Given the description of an element on the screen output the (x, y) to click on. 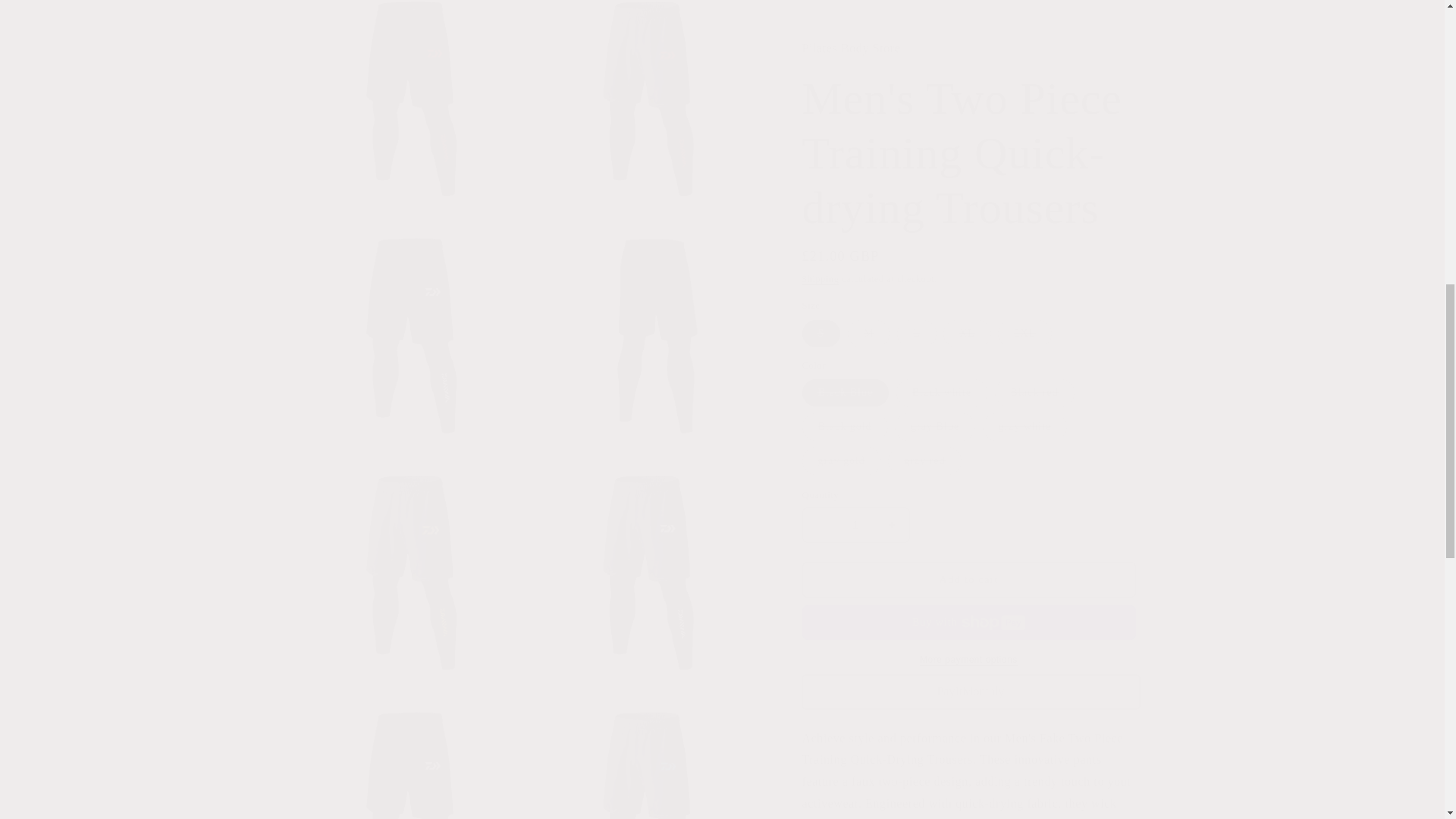
Open media 7 in modal (652, 318)
Open media 11 in modal (652, 750)
Open media 4 in modal (415, 96)
Open media 5 in modal (652, 96)
Open media 9 in modal (652, 555)
Open media 6 in modal (415, 318)
Open media 8 in modal (415, 555)
Open media 10 in modal (415, 750)
